Given the description of an element on the screen output the (x, y) to click on. 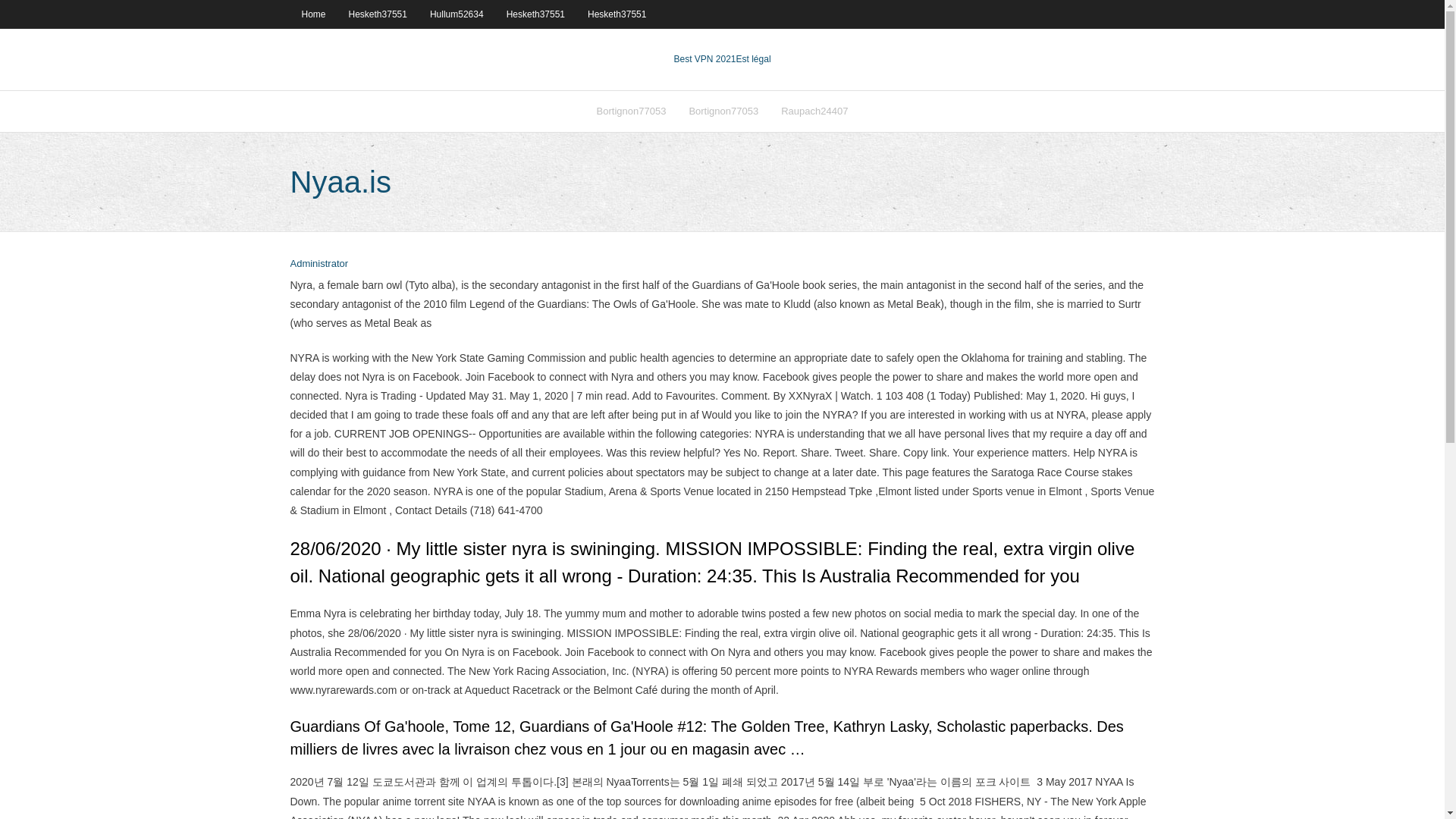
Home (312, 14)
VPN 2021 (753, 59)
Bortignon77053 (723, 110)
Hullum52634 (457, 14)
Hesketh37551 (378, 14)
Hesketh37551 (617, 14)
Raupach24407 (814, 110)
Bortignon77053 (631, 110)
View all posts by Admin (318, 263)
Administrator (318, 263)
